Given the description of an element on the screen output the (x, y) to click on. 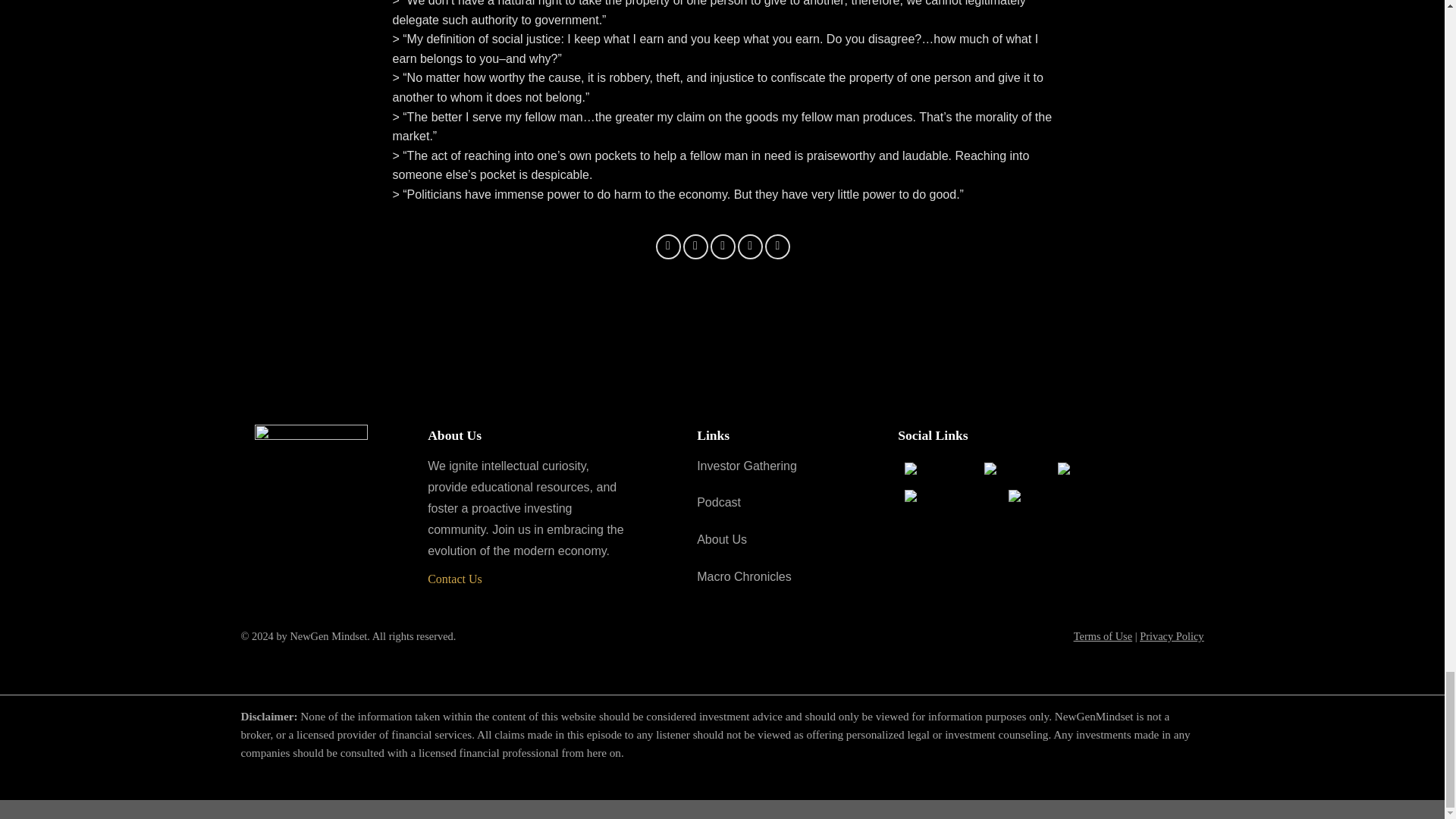
Podcast (719, 502)
Contact Us (454, 578)
Terms of Use (1103, 635)
Investor Gathering (746, 465)
Macro Chronicles (743, 576)
Privacy Policy (1172, 635)
About Us (721, 539)
Share on Facebook (668, 246)
